Given the description of an element on the screen output the (x, y) to click on. 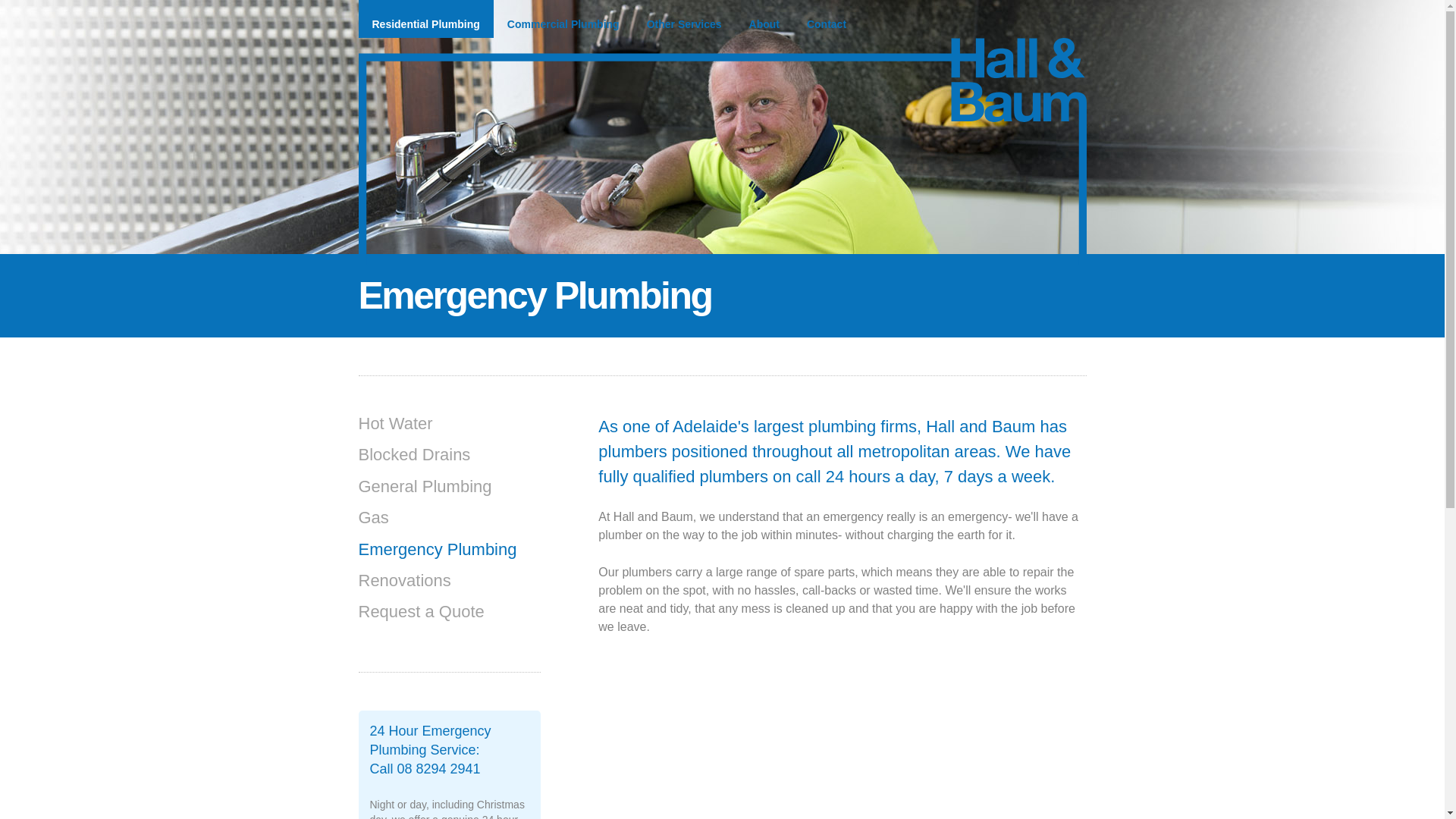
Contact Element type: text (826, 18)
Residential Plumbing Element type: text (424, 18)
Blocked Drains Element type: text (448, 460)
About Element type: text (764, 18)
Commercial Plumbing Element type: text (563, 18)
Other Services Element type: text (684, 18)
Emergency Plumbing Element type: text (430, 740)
General Plumbing Element type: text (448, 492)
Emergency Plumbing Element type: text (448, 555)
Request a Quote Element type: text (448, 617)
Hot Water Element type: text (448, 429)
Gas Element type: text (448, 523)
Renovations Element type: text (448, 586)
